Given the description of an element on the screen output the (x, y) to click on. 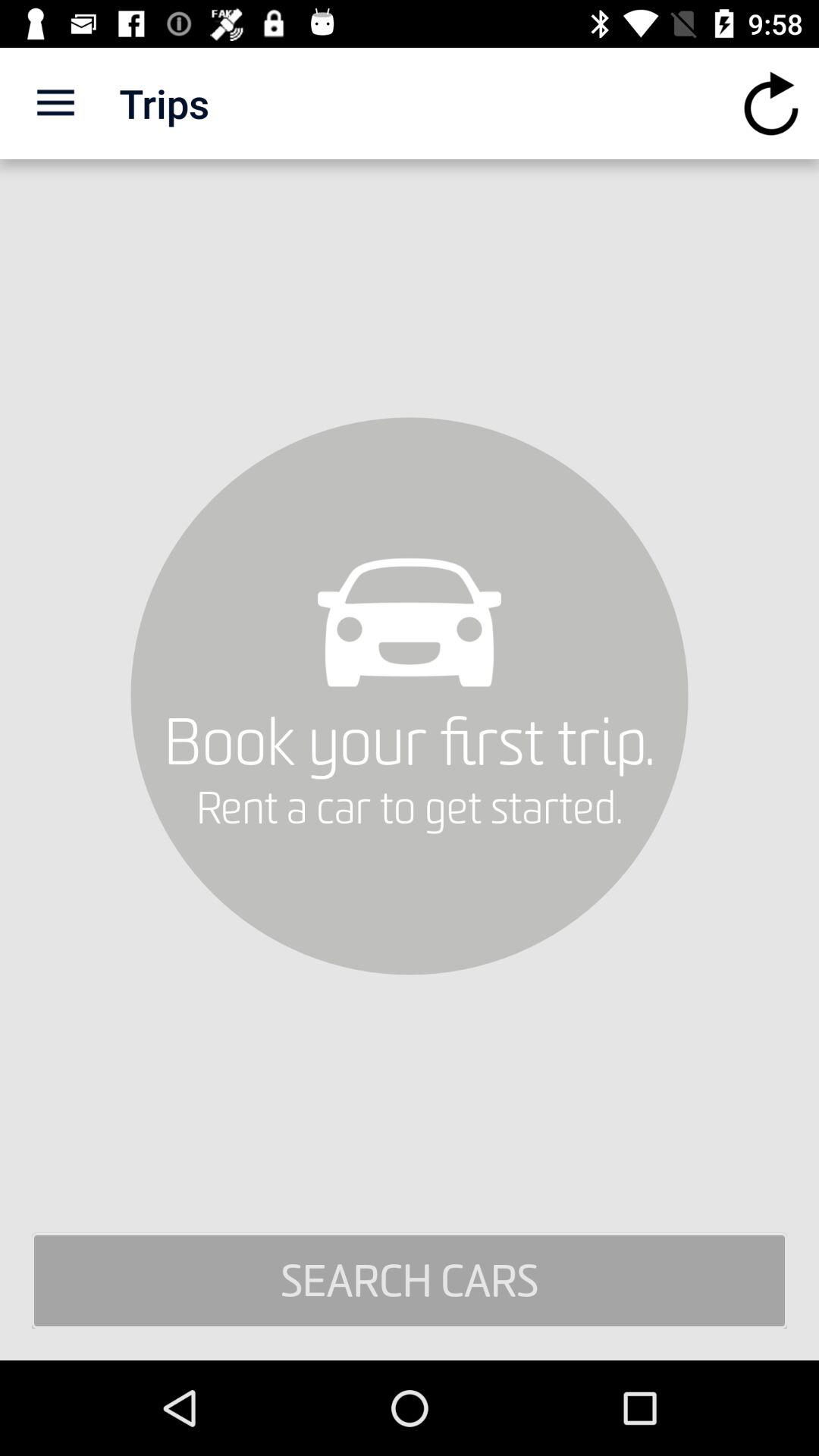
turn off app to the right of the trips app (771, 103)
